Given the description of an element on the screen output the (x, y) to click on. 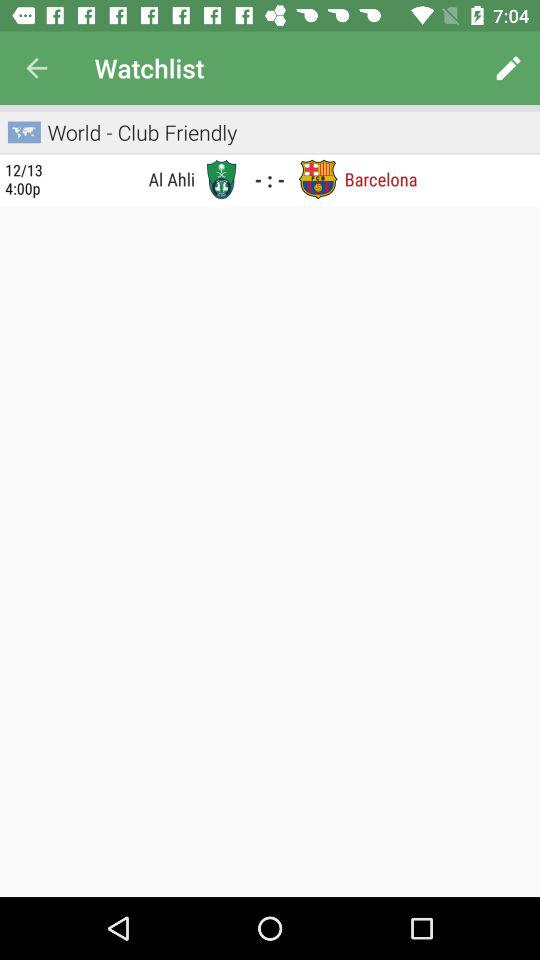
launch icon to the right of al ahli icon (221, 179)
